Given the description of an element on the screen output the (x, y) to click on. 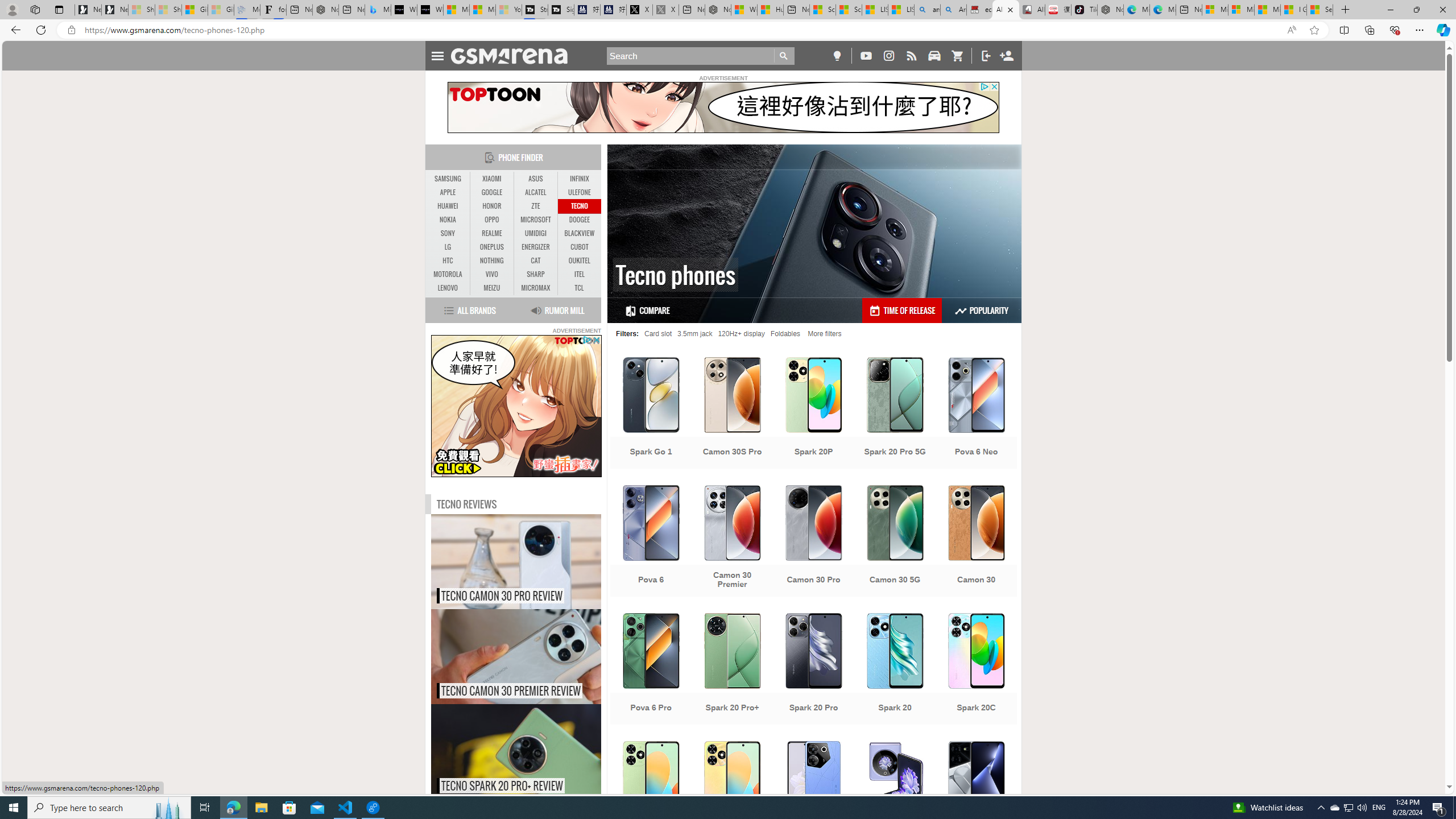
More filters (824, 333)
Nordace - Best Sellers (1110, 9)
ONEPLUS (491, 246)
TikTok (1083, 9)
To get missing image descriptions, open the context menu. (515, 405)
TECNO (579, 205)
SAMSUNG (448, 178)
AutomationID: anchor (513, 55)
Workspaces (34, 9)
Amazon Echo Dot PNG - Search Images (953, 9)
